Given the description of an element on the screen output the (x, y) to click on. 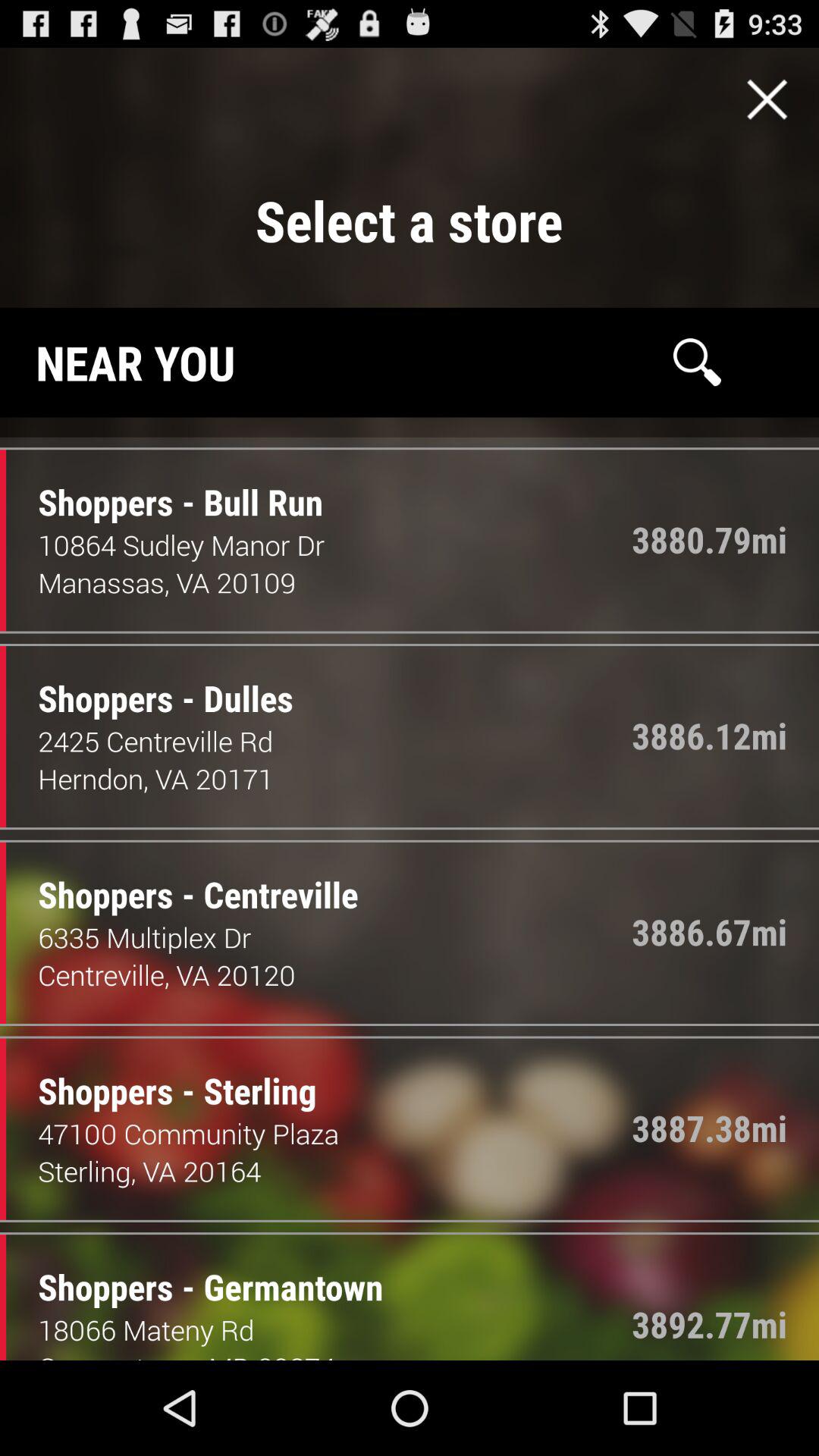
launch icon below shoppers - dulles  item (334, 740)
